Given the description of an element on the screen output the (x, y) to click on. 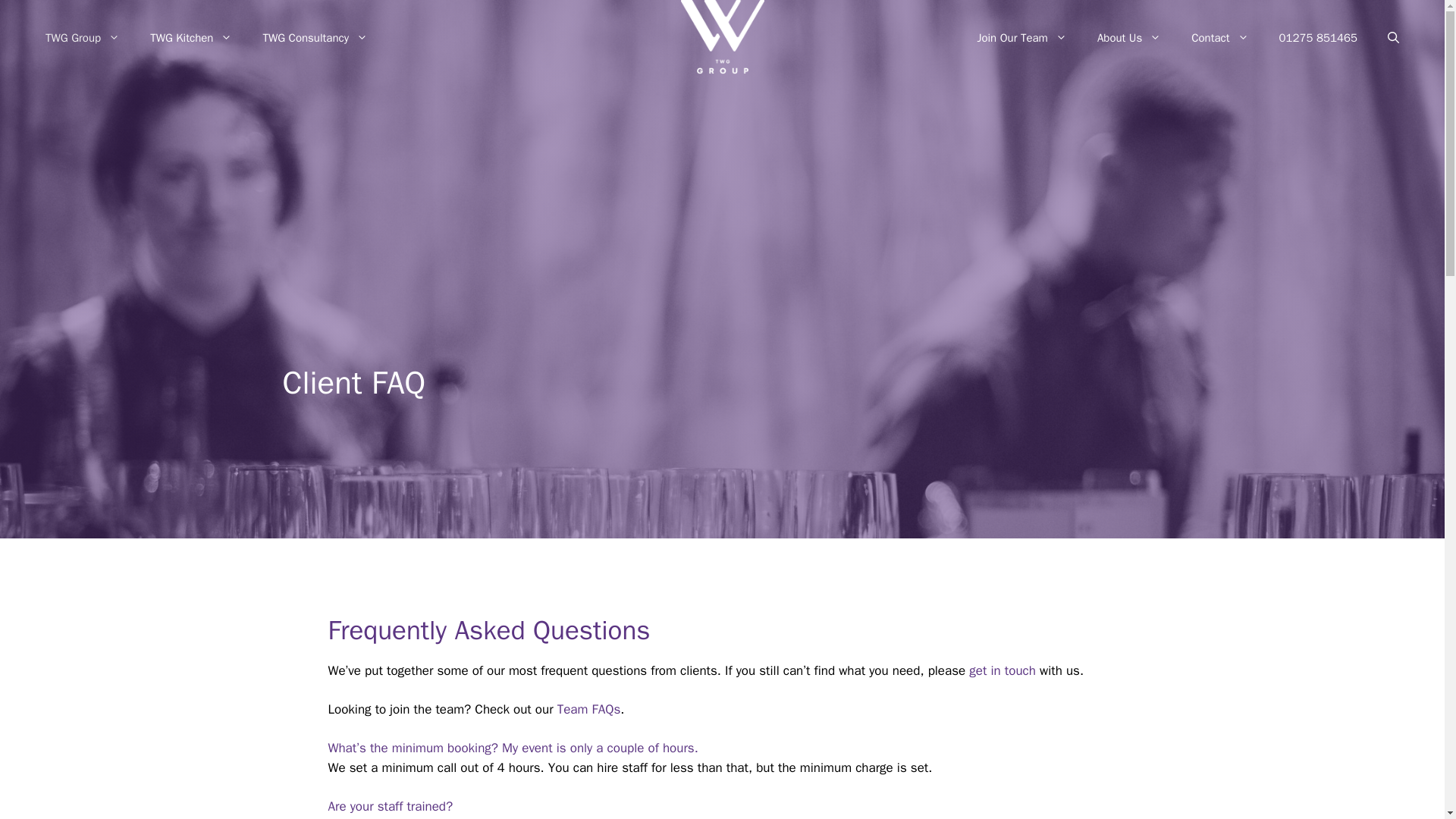
TWG Group (722, 39)
TWG Kitchen (191, 37)
Menu Item Separator (671, 37)
Join Our Team (1020, 37)
Contact (1219, 37)
About Us (1128, 37)
TWG Group (722, 36)
TWG Consultancy (314, 37)
01275 851465 (1318, 37)
TWG Group (82, 37)
